Given the description of an element on the screen output the (x, y) to click on. 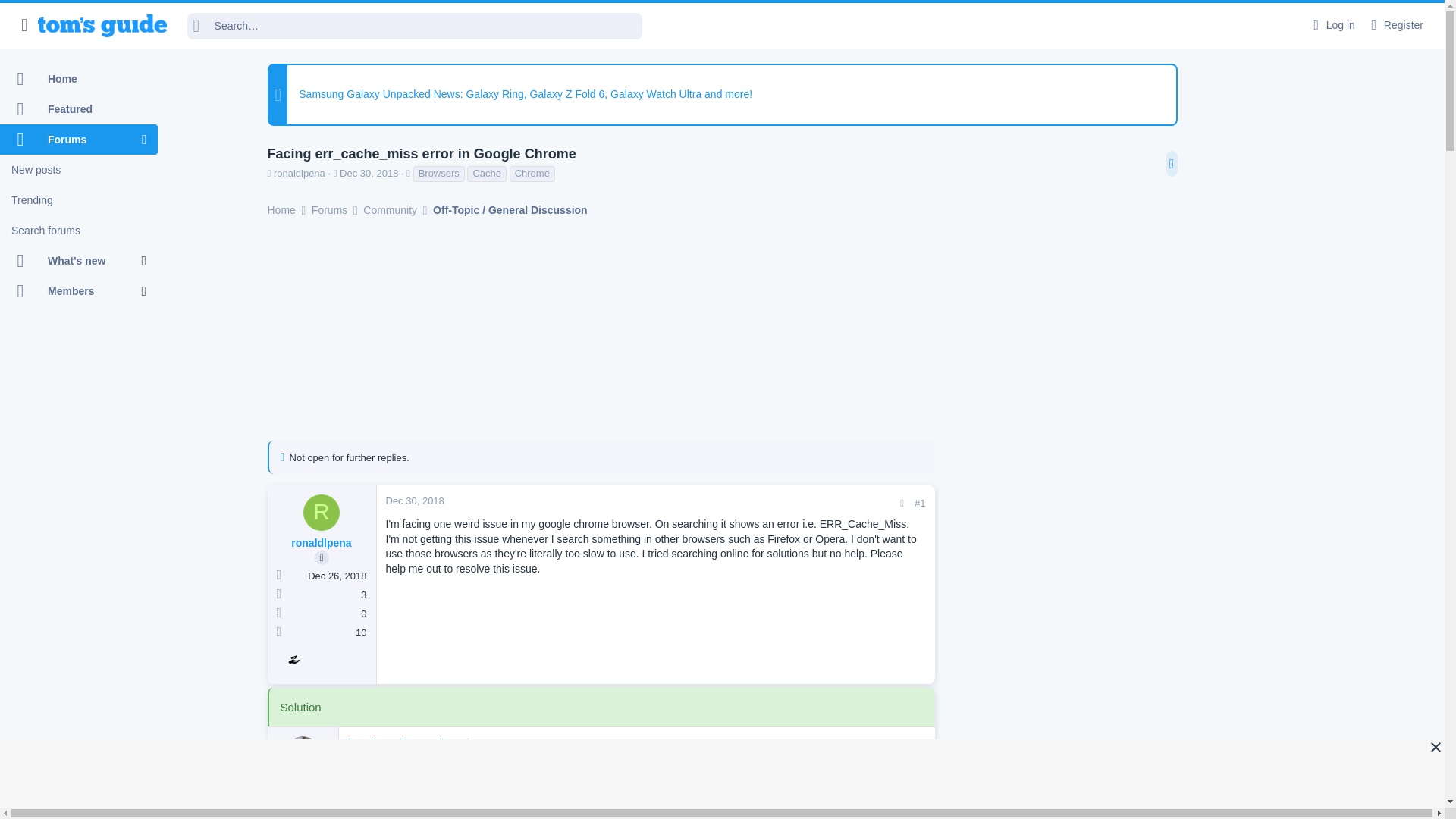
Dec 30, 2018 at 2:29 AM (368, 173)
Feb 27, 2019 at 8:04 AM (485, 743)
Register (1395, 24)
Log in (1332, 24)
Dec 30, 2018 at 2:29 AM (414, 500)
